Given the description of an element on the screen output the (x, y) to click on. 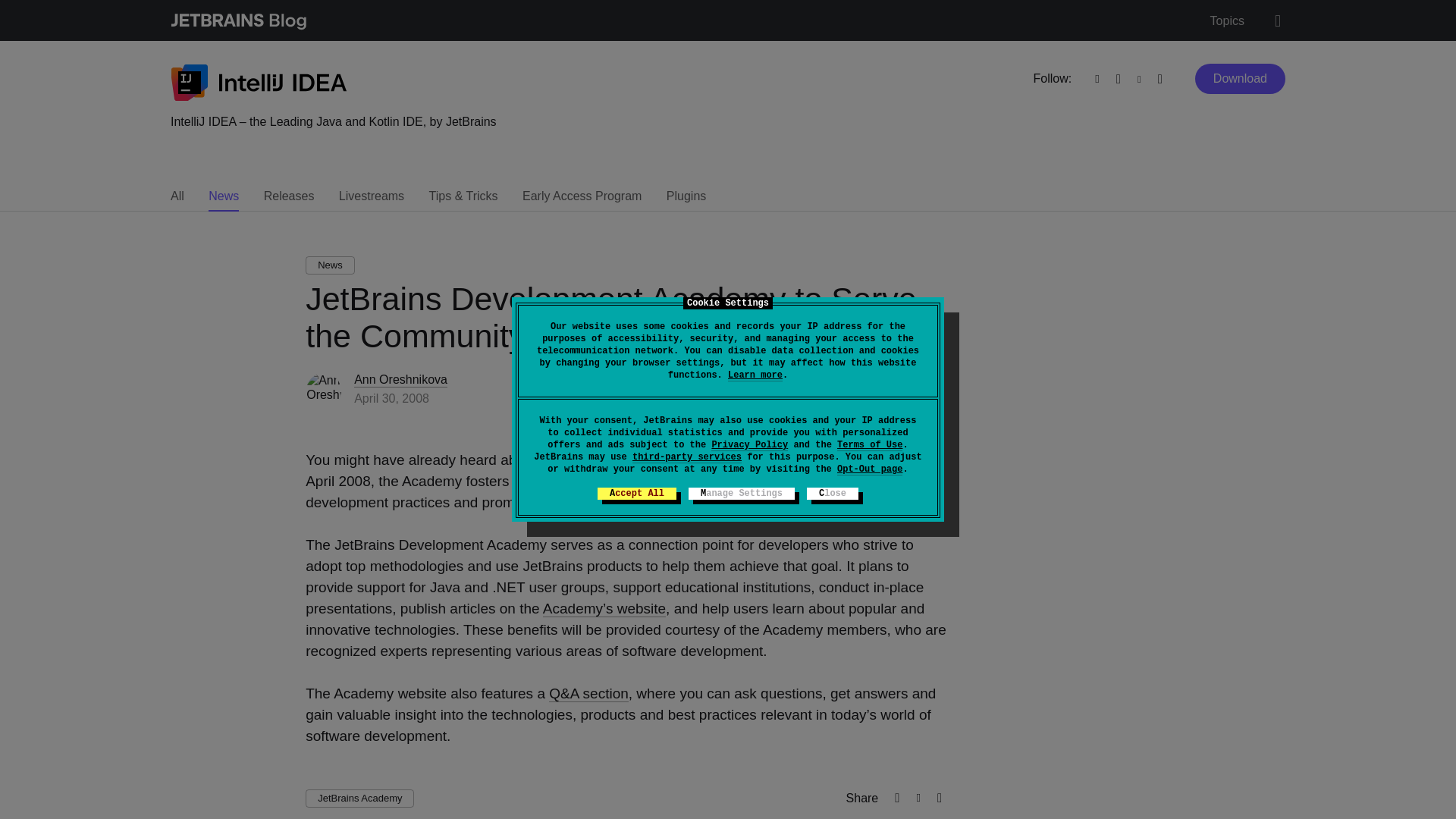
Topics (1226, 21)
